Given the description of an element on the screen output the (x, y) to click on. 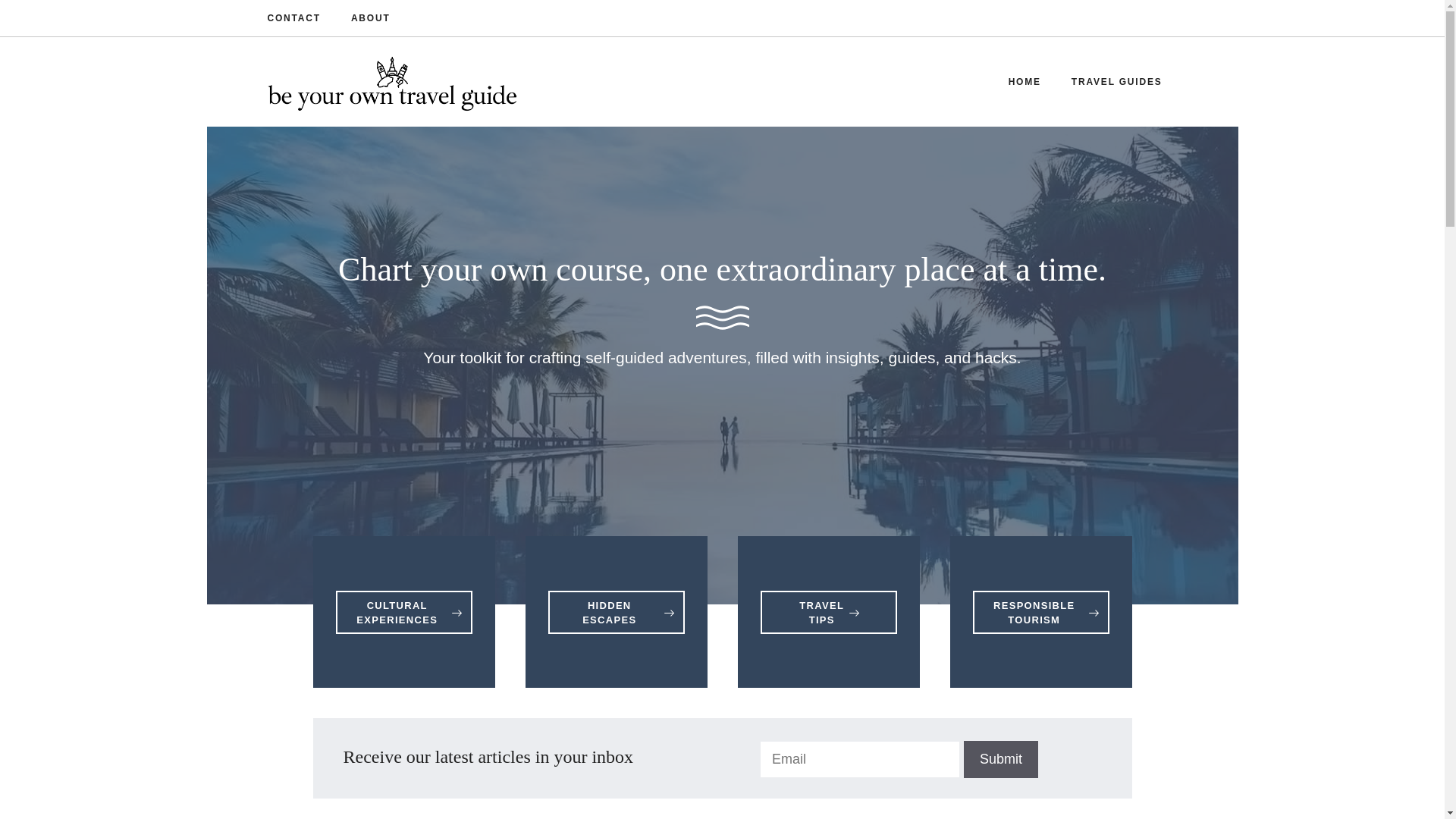
Submit (1000, 759)
ABOUT (370, 18)
TRAVEL GUIDES (1117, 81)
HOME (1024, 81)
Submit (1000, 759)
HIDDEN ESCAPES (615, 611)
CONTACT (293, 18)
RESPONSIBLE TOURISM (1040, 611)
CULTURAL EXPERIENCES (402, 611)
